Given the description of an element on the screen output the (x, y) to click on. 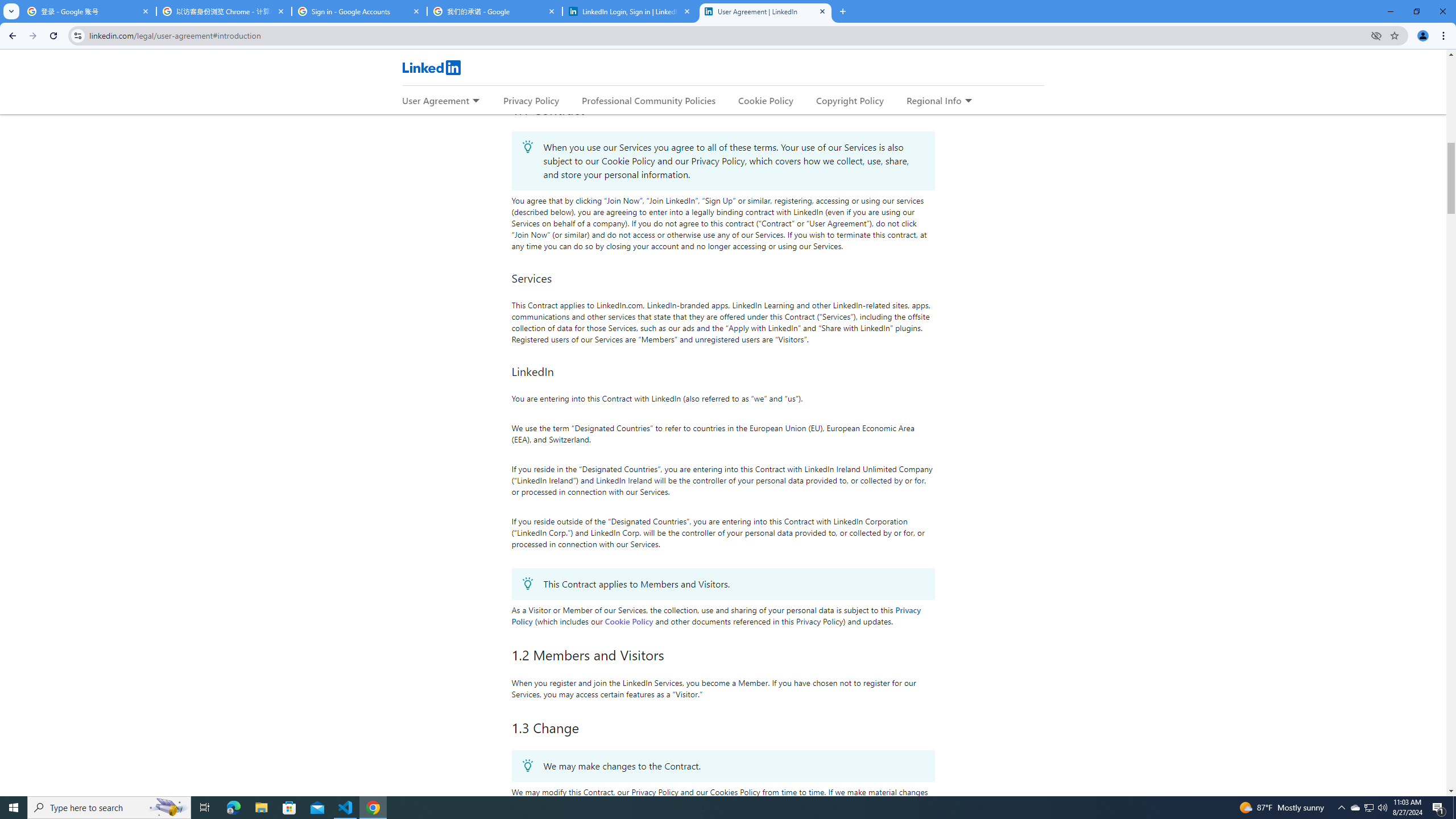
Copyright Policy (849, 100)
User Agreement (434, 100)
Professional Community Policies (649, 100)
LinkedIn Logo (430, 67)
Expand to show more links for Regional Info (967, 101)
